Given the description of an element on the screen output the (x, y) to click on. 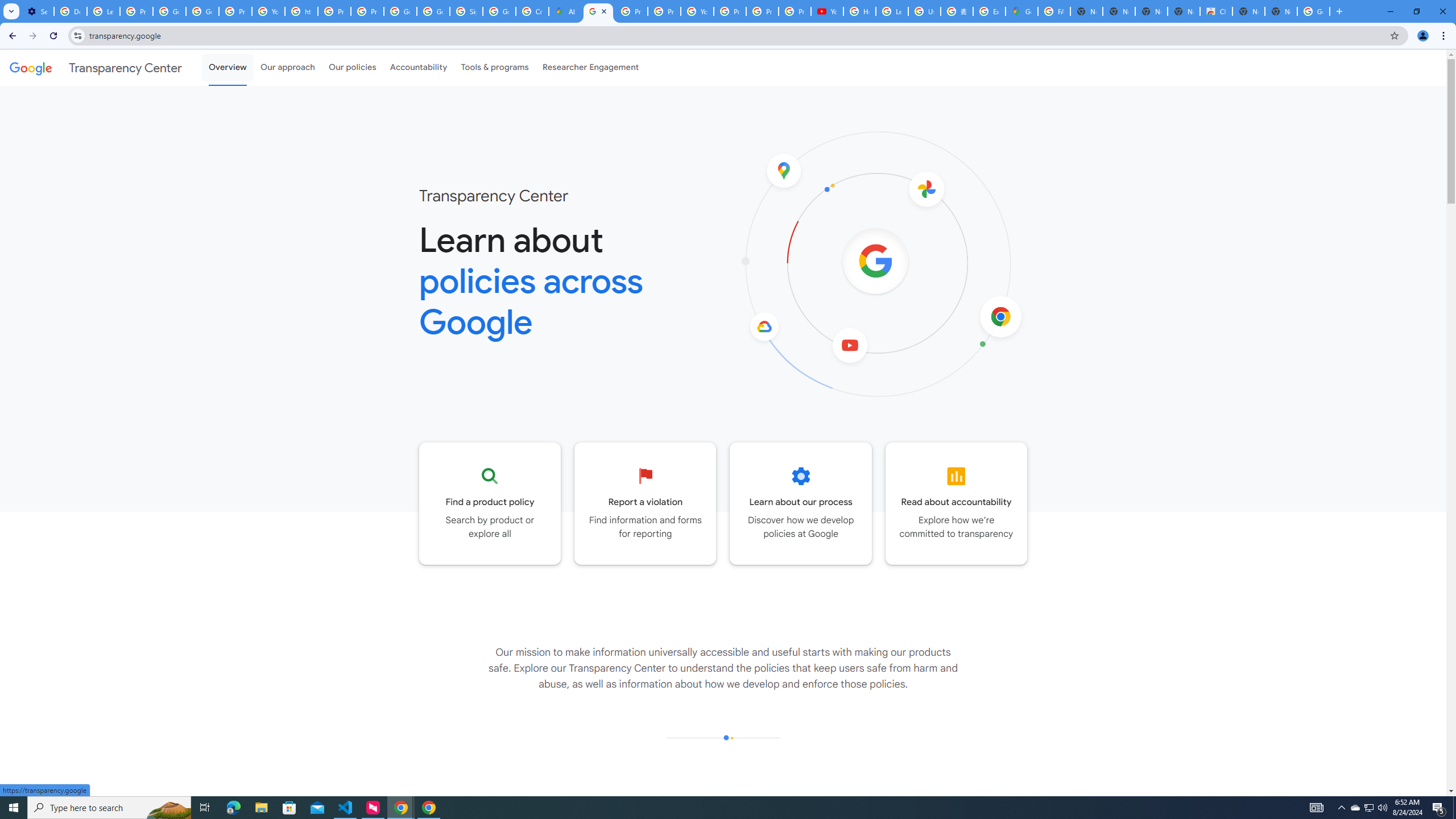
Google Maps (1021, 11)
Go to the Reporting and appeals page (645, 503)
Our approach (287, 67)
Privacy Checkup (762, 11)
Privacy Checkup (794, 11)
Privacy Help Center - Policies Help (334, 11)
Explore new street-level details - Google Maps Help (989, 11)
